Given the description of an element on the screen output the (x, y) to click on. 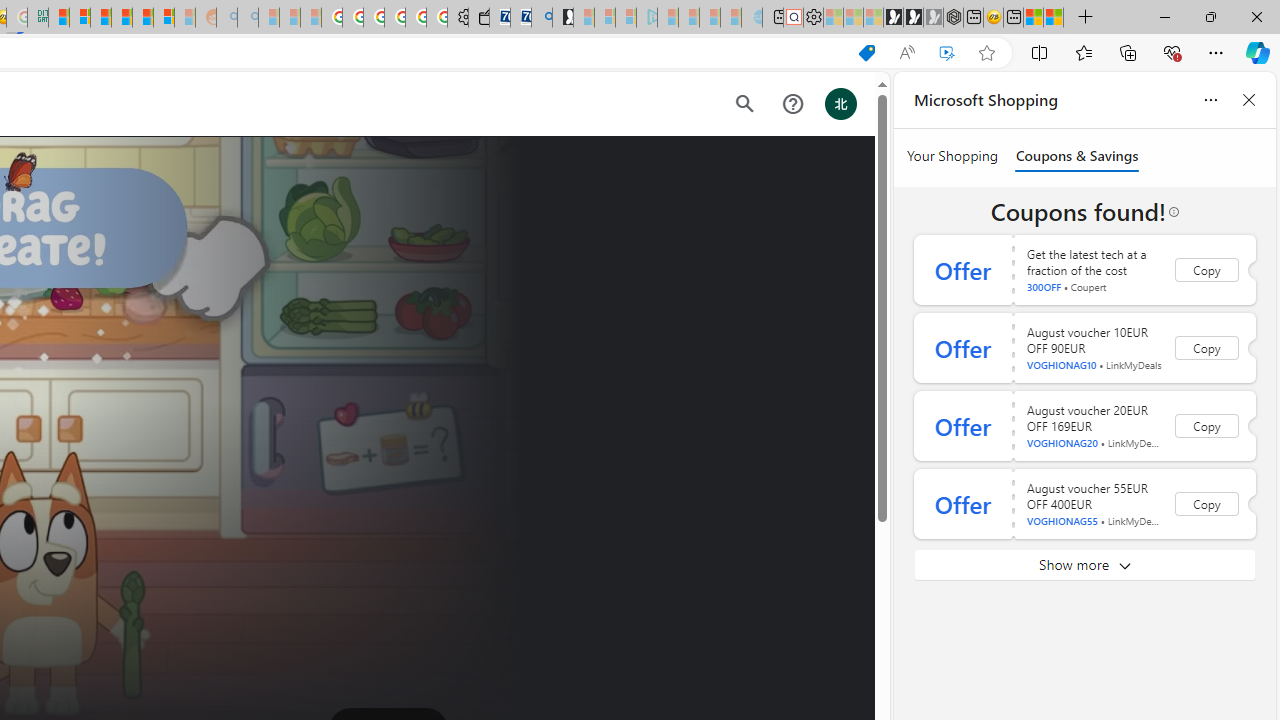
Nordace - Nordace Siena Is Not An Ordinary Backpack (952, 17)
Wallet (478, 17)
Play Free Online Games | Games from Microsoft Start (893, 17)
Utah sues federal government - Search - Sleeping (248, 17)
